Given the description of an element on the screen output the (x, y) to click on. 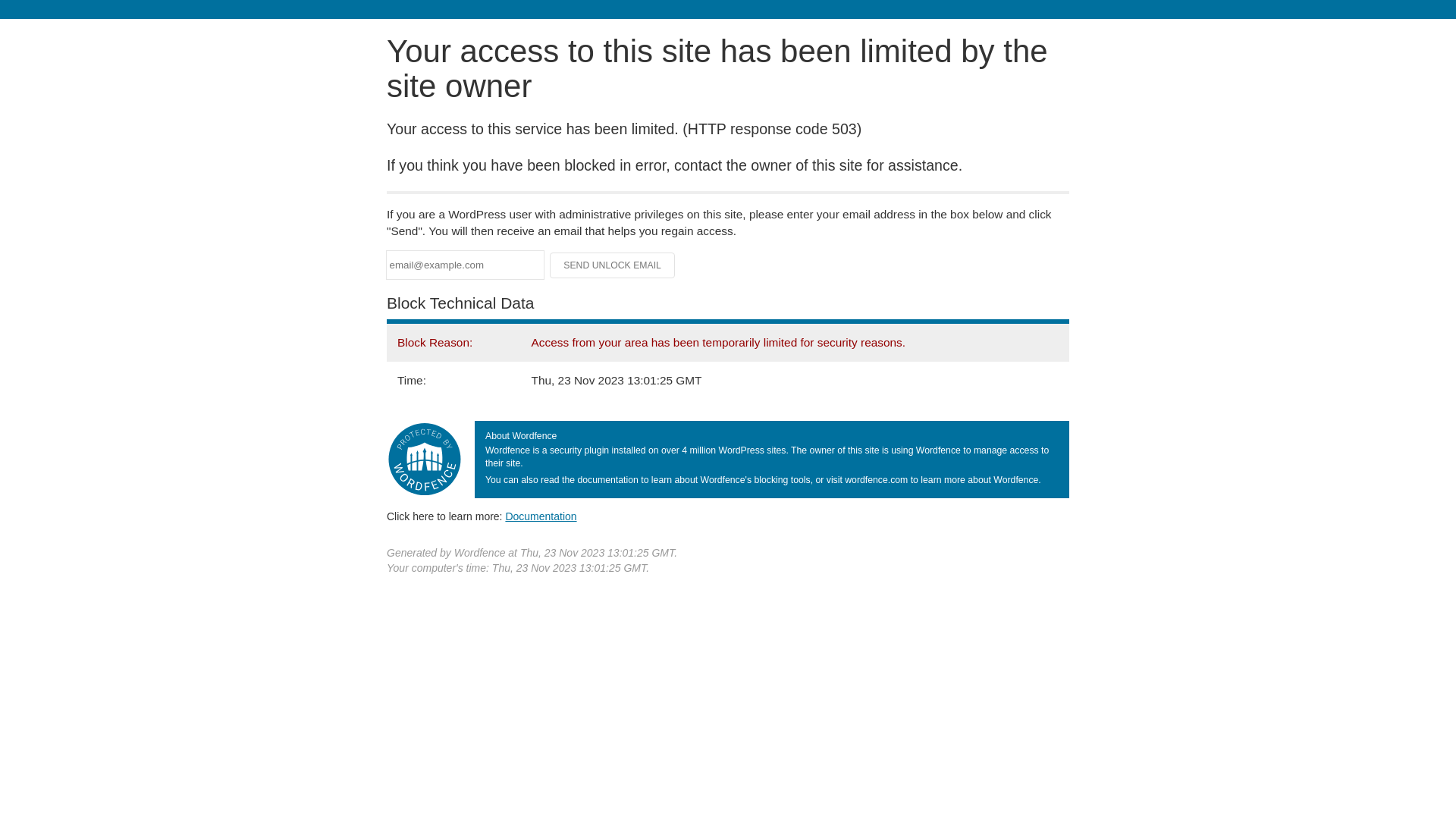
Documentation Element type: text (540, 516)
Send Unlock Email Element type: text (612, 265)
